Given the description of an element on the screen output the (x, y) to click on. 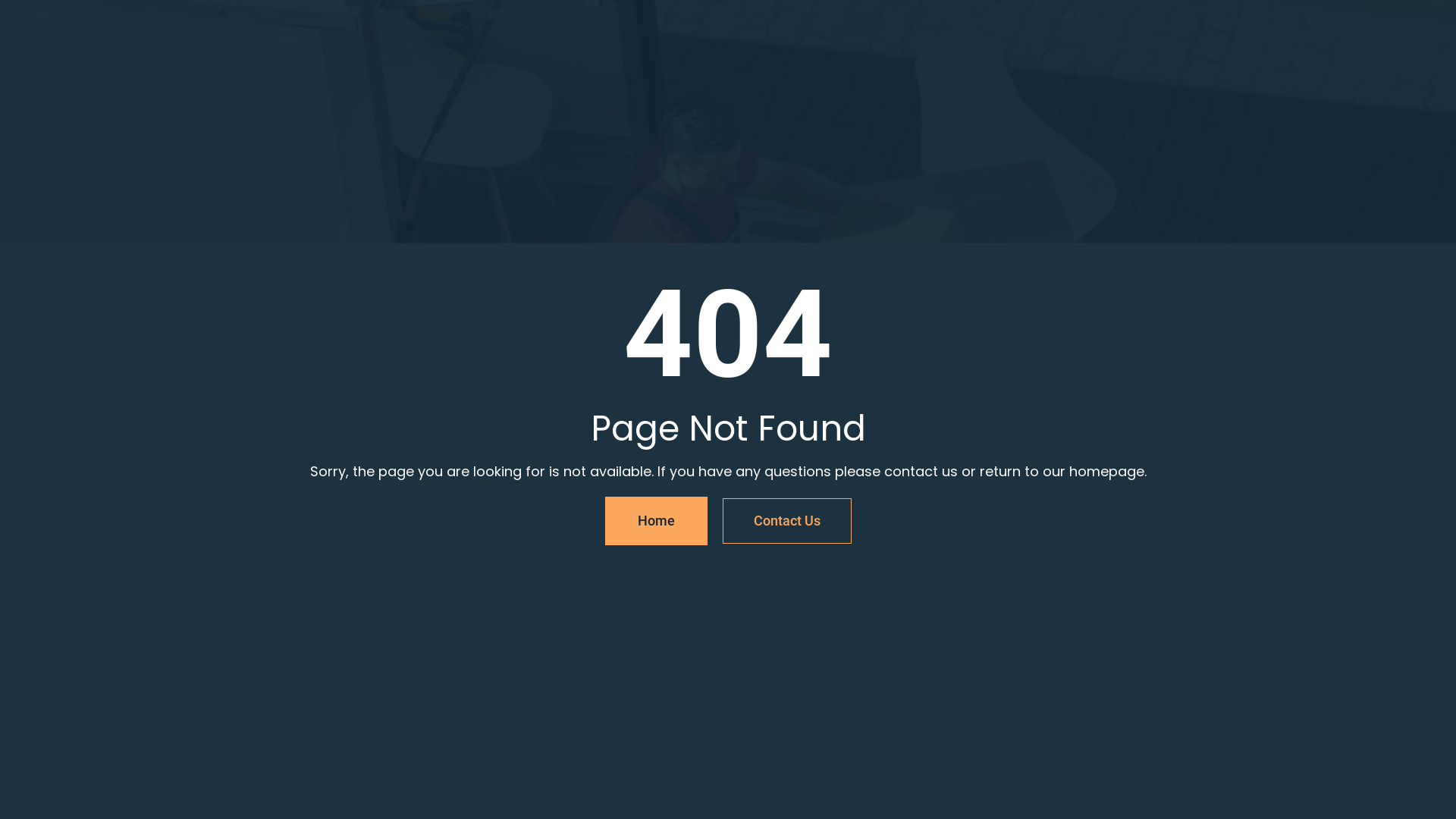
Contact Us Element type: text (785, 519)
Home Element type: text (656, 519)
